Given the description of an element on the screen output the (x, y) to click on. 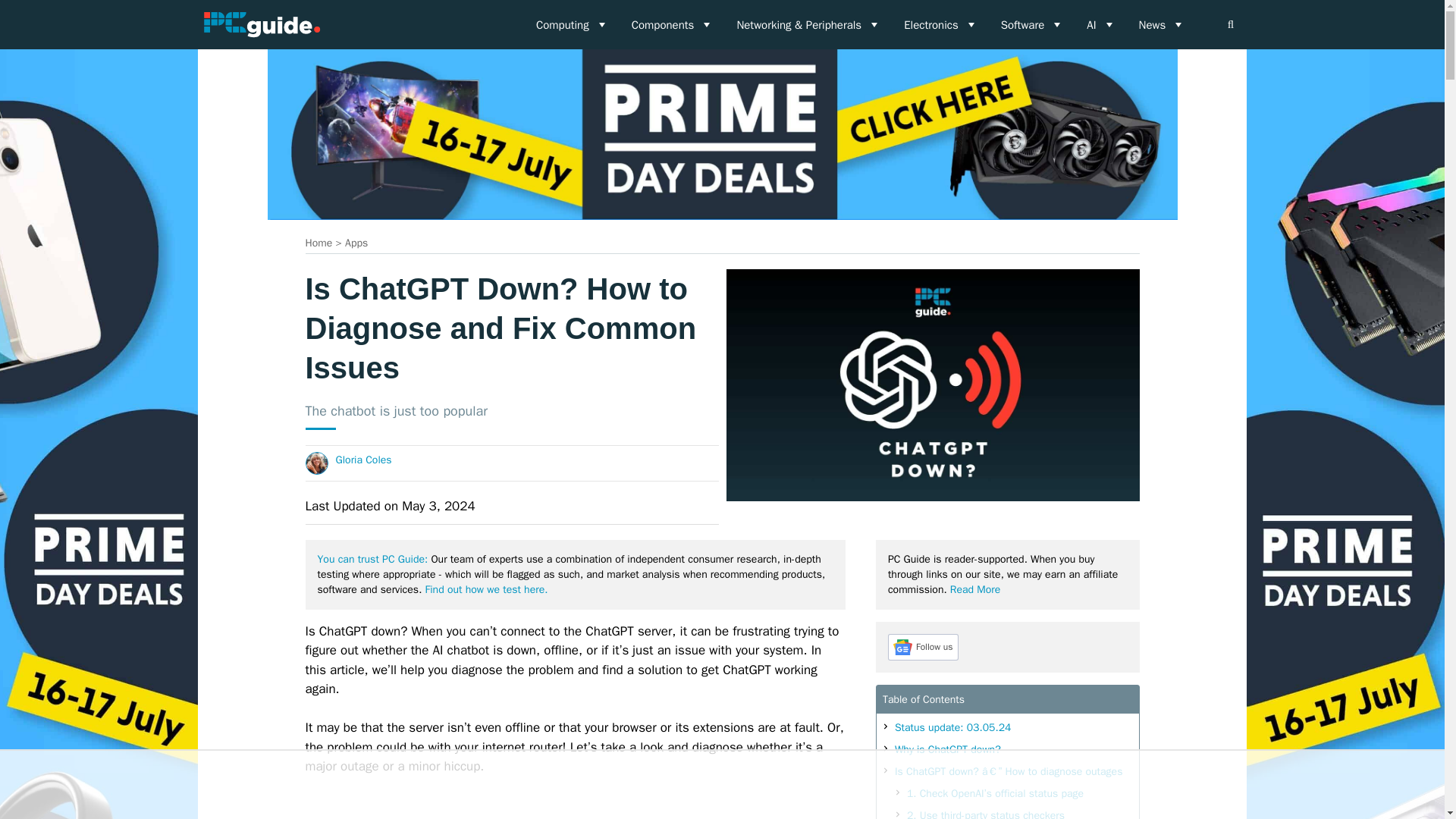
Computing (571, 23)
PC Guide (260, 24)
PC Guide (260, 23)
